Given the description of an element on the screen output the (x, y) to click on. 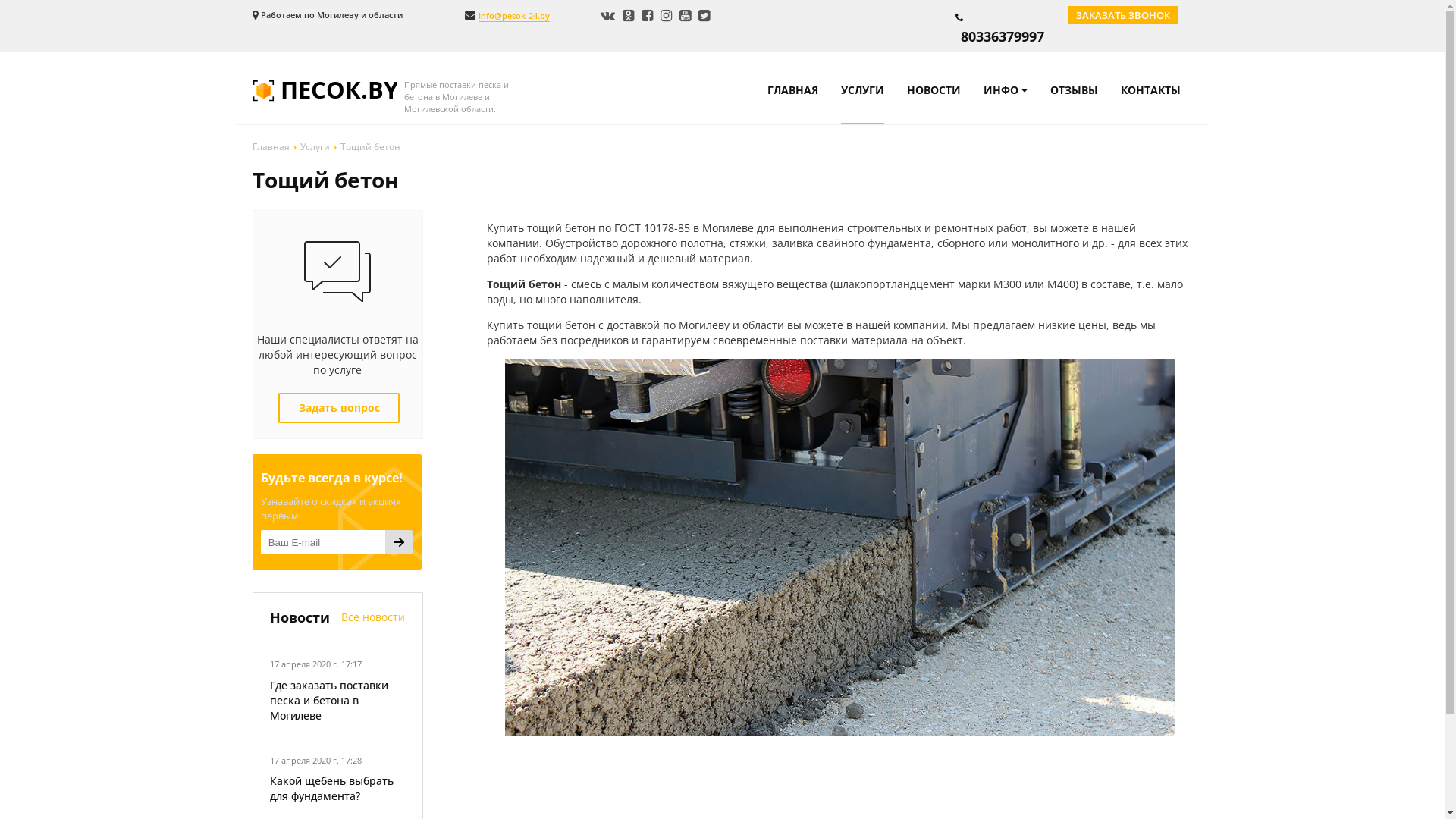
info@pesok-24.by Element type: text (513, 15)
